Given the description of an element on the screen output the (x, y) to click on. 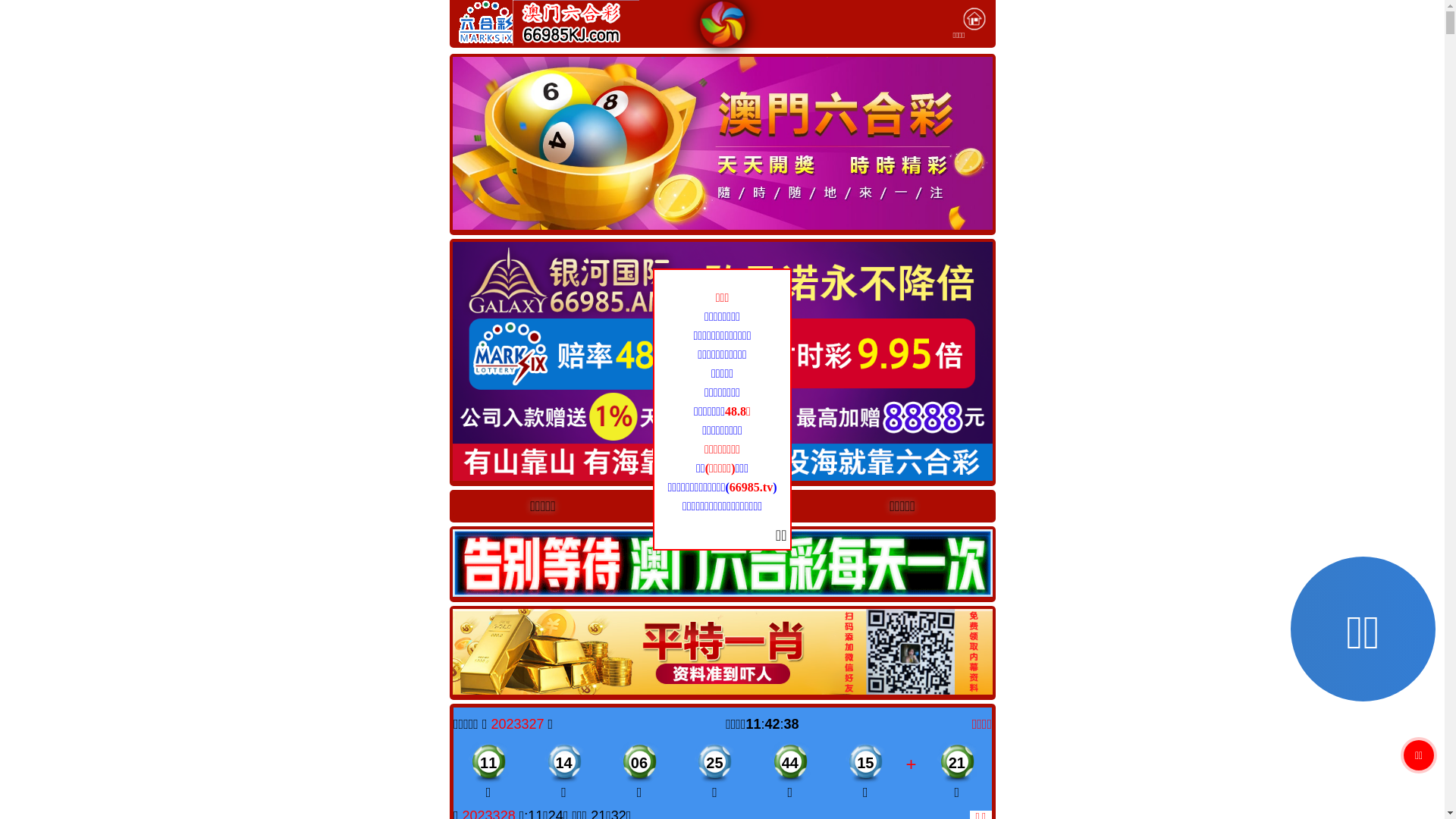
yhgj663.com Element type: text (722, 504)
